Given the description of an element on the screen output the (x, y) to click on. 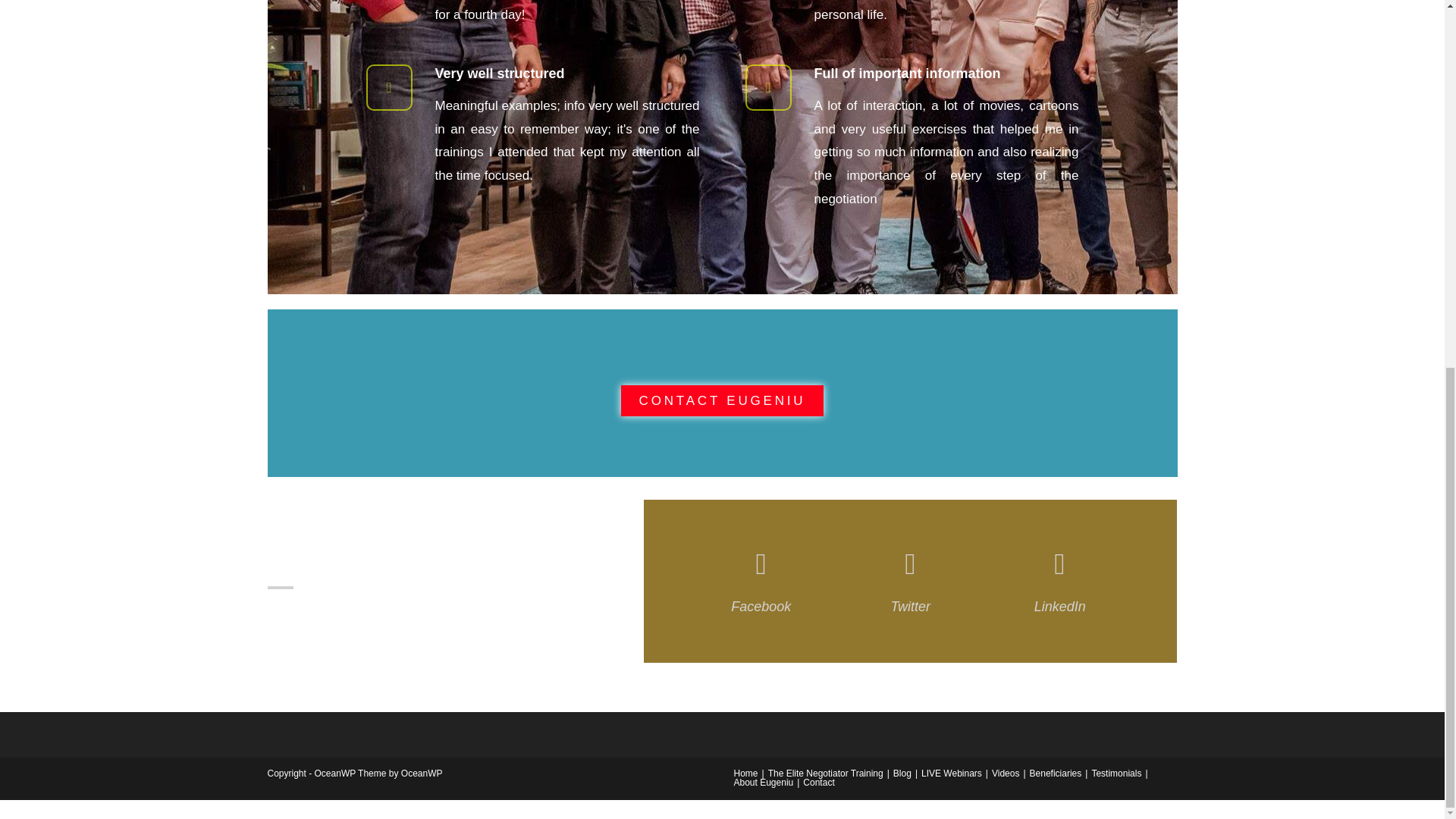
The Elite Negotiator Home (745, 773)
LIVE Webinars (951, 773)
The Elite Negotiator Training (825, 773)
The Elite Negotiator Videos (1005, 773)
The Elite Negotiator Beneficiaries (1055, 773)
Blog (902, 773)
Videos (1005, 773)
CONTACT EUGENIU (722, 400)
Home (745, 773)
Beneficiaries (1055, 773)
